Given the description of an element on the screen output the (x, y) to click on. 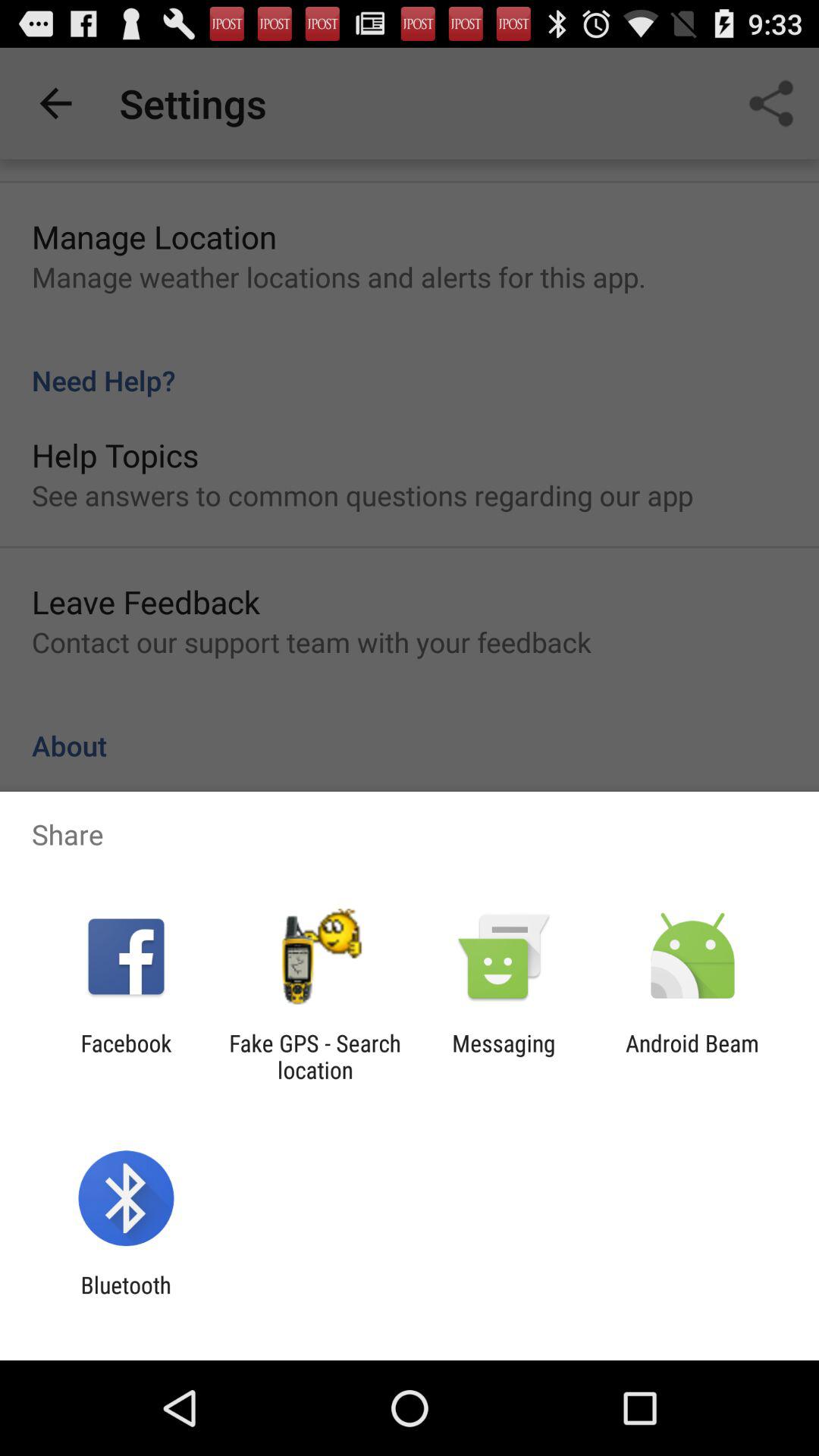
launch the item next to the messaging icon (314, 1056)
